Given the description of an element on the screen output the (x, y) to click on. 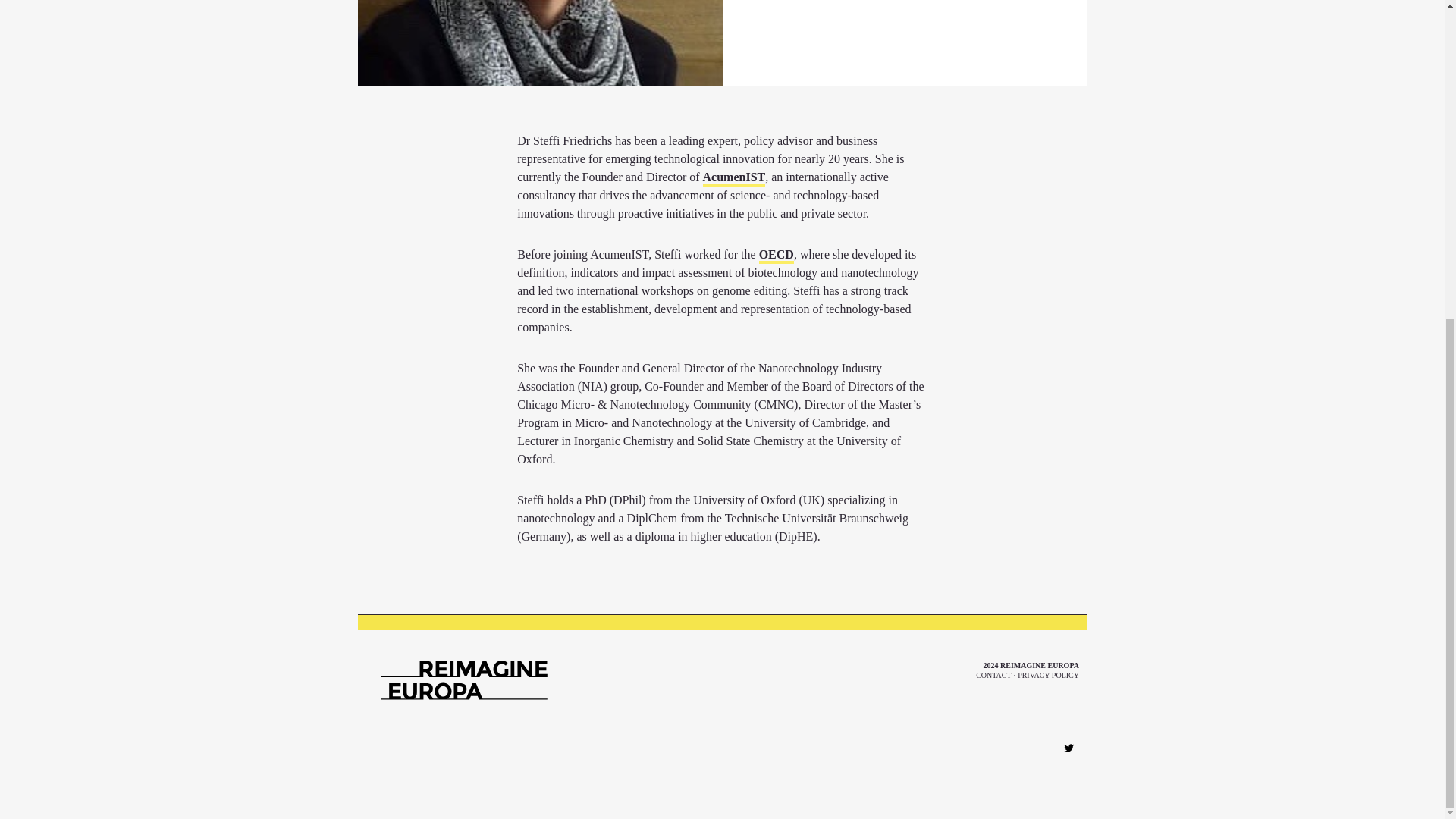
AcumenIST (734, 178)
PRIVACY POLICY (1047, 674)
2024 REIMAGINE EUROPA (1030, 665)
OECD (775, 255)
CONTACT (992, 674)
